Given the description of an element on the screen output the (x, y) to click on. 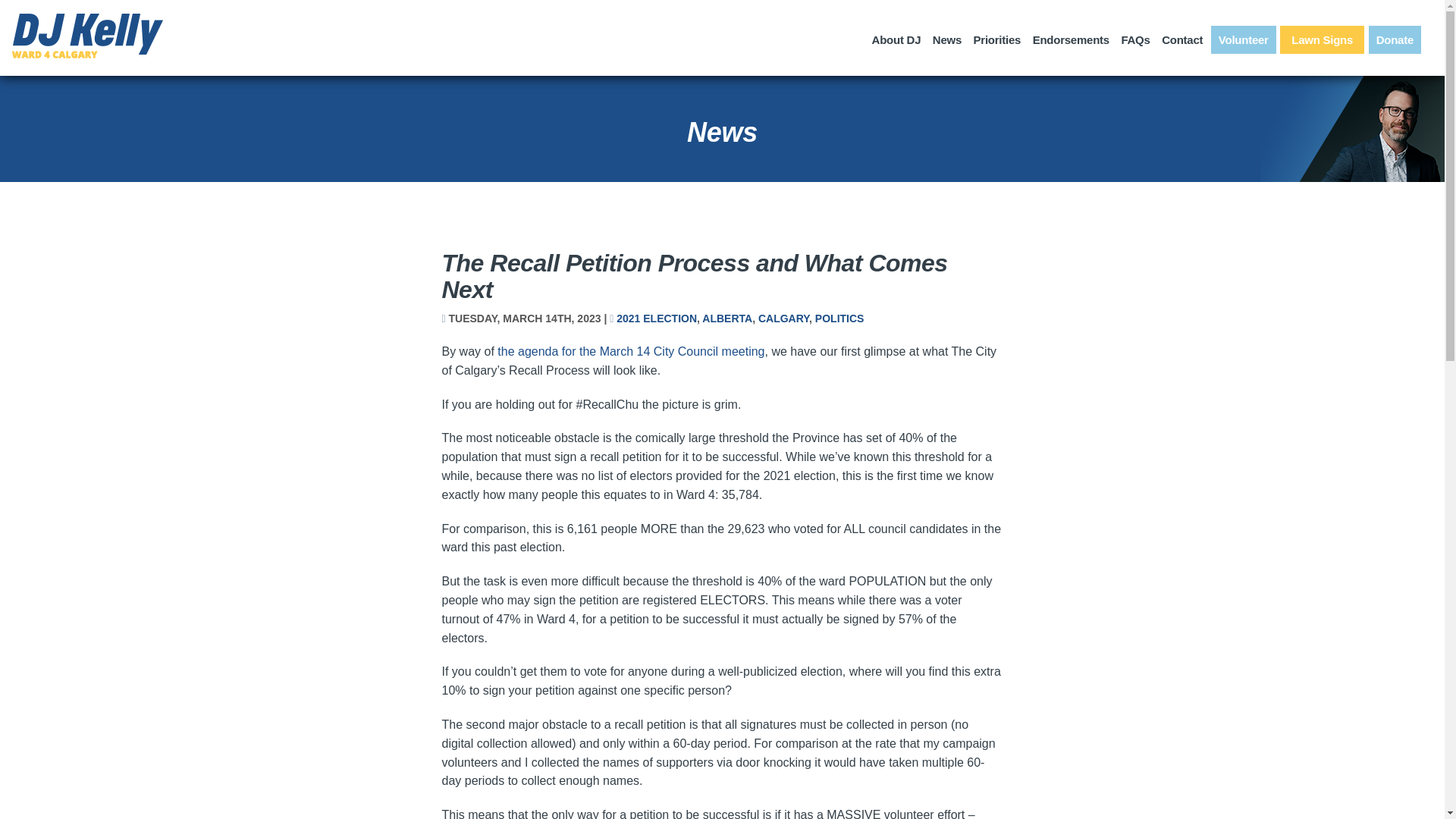
CALGARY (783, 318)
2021 ELECTION (656, 318)
the agenda for the March 14 City Council meeting (630, 350)
Endorsements (1070, 39)
About DJ (896, 39)
ALBERTA (726, 318)
Volunteer (1243, 39)
Lawn Signs (1321, 39)
Contact (1181, 39)
Priorities (998, 39)
Donate (1394, 39)
News (946, 39)
POLITICS (839, 318)
FAQs (1135, 39)
